Given the description of an element on the screen output the (x, y) to click on. 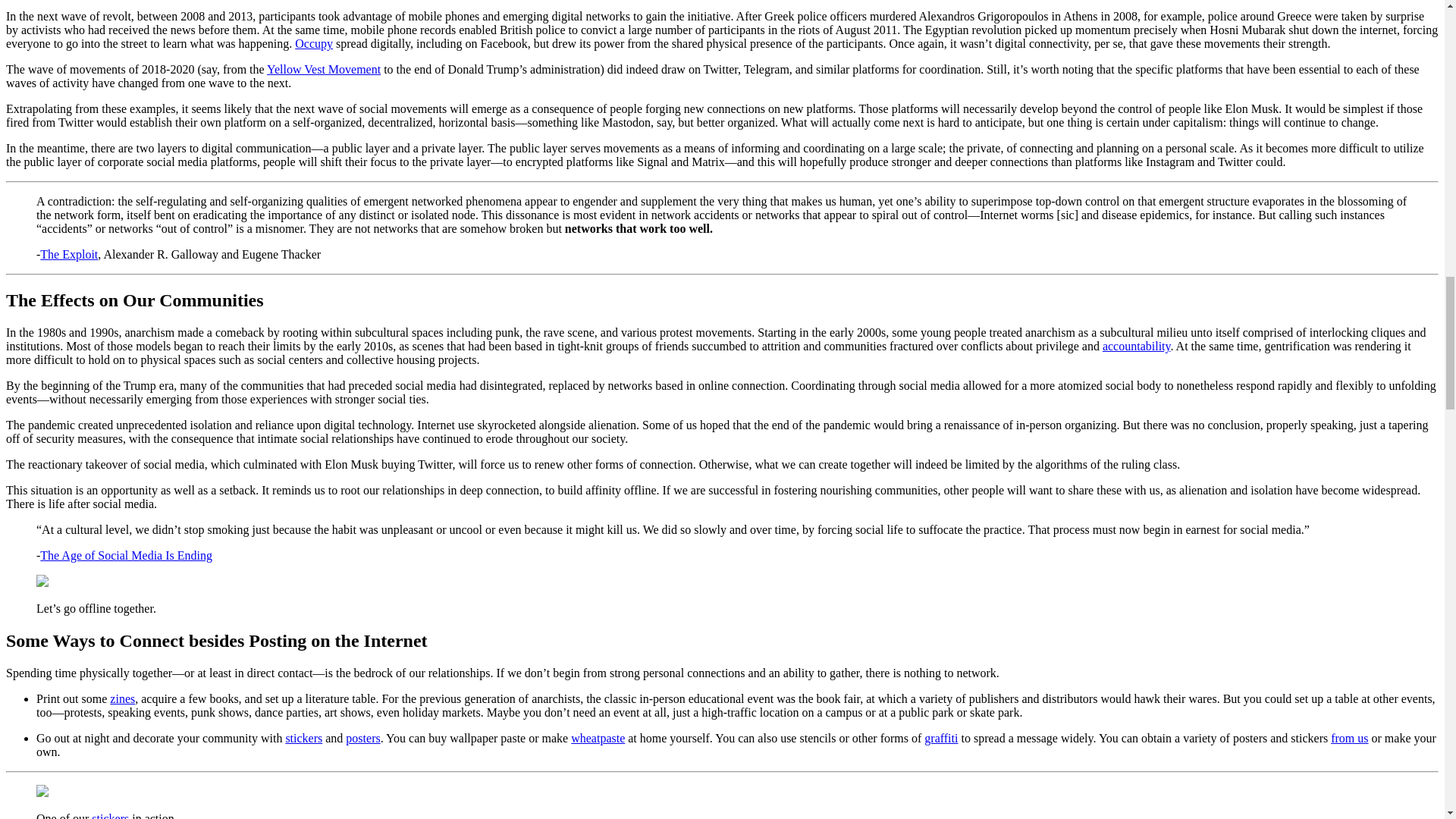
Yellow Vest Movement (323, 69)
Occupy (314, 42)
